Given the description of an element on the screen output the (x, y) to click on. 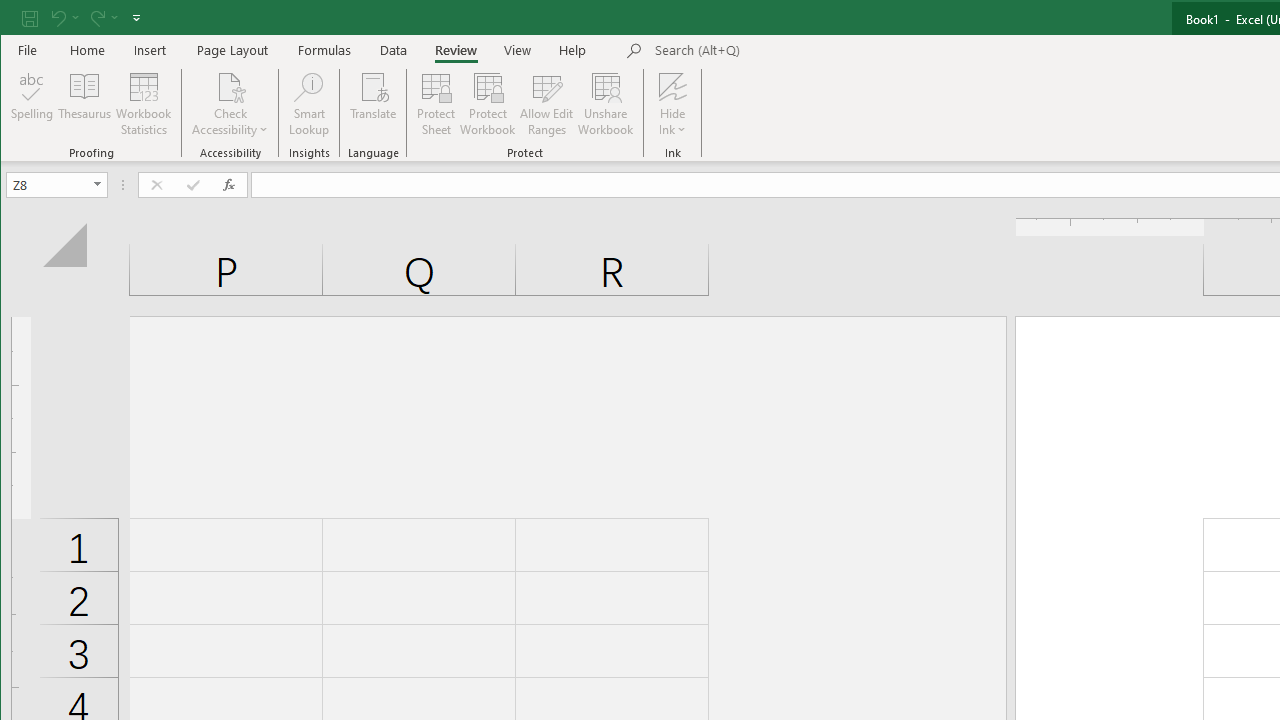
Unshare Workbook (606, 104)
